Given the description of an element on the screen output the (x, y) to click on. 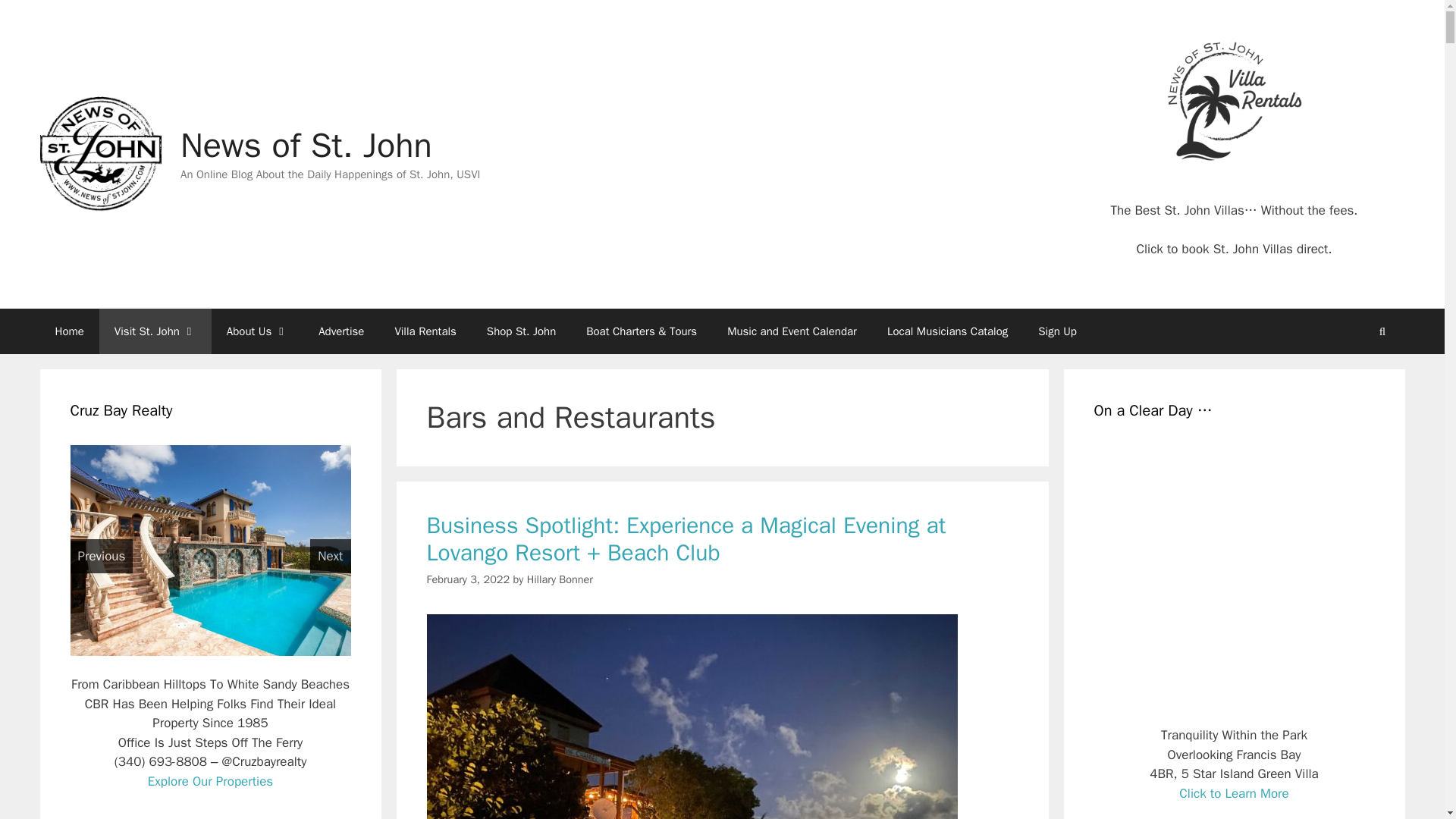
About Us (256, 330)
February 3, 2022 (467, 579)
Local Musicians Catalog (947, 330)
News of St. John (99, 153)
Shop St. John (520, 330)
Sign Up (1057, 330)
Search (1382, 330)
News of St. John (99, 154)
Music and Event Calendar (791, 330)
Villa Rentals (424, 330)
Advertise (340, 330)
Home (69, 330)
Visit St. John (155, 330)
Hillary Bonner (559, 579)
Search (1382, 330)
